Given the description of an element on the screen output the (x, y) to click on. 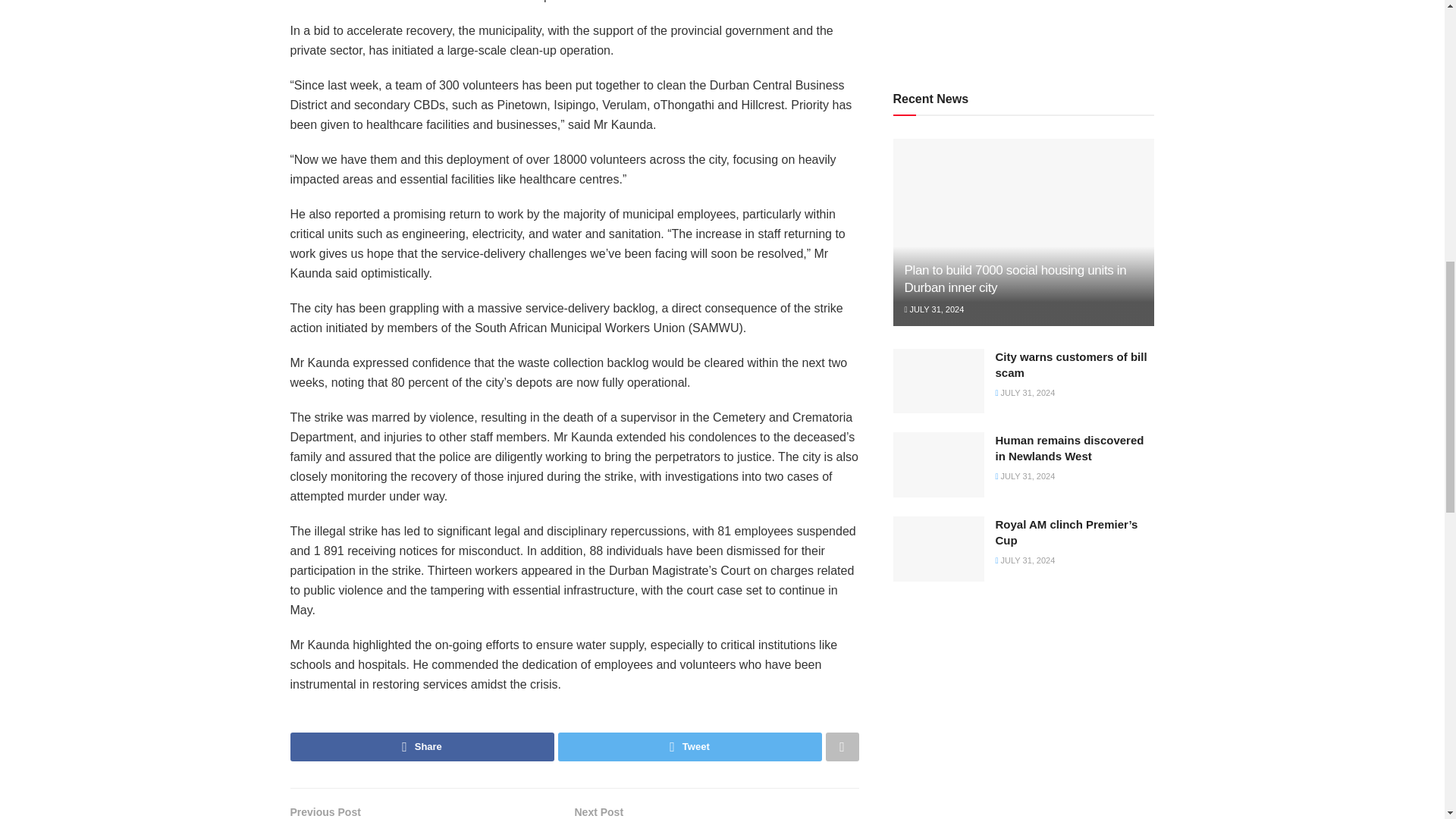
3rd party ad content (1023, 27)
Share (421, 746)
Tweet (689, 746)
